Given the description of an element on the screen output the (x, y) to click on. 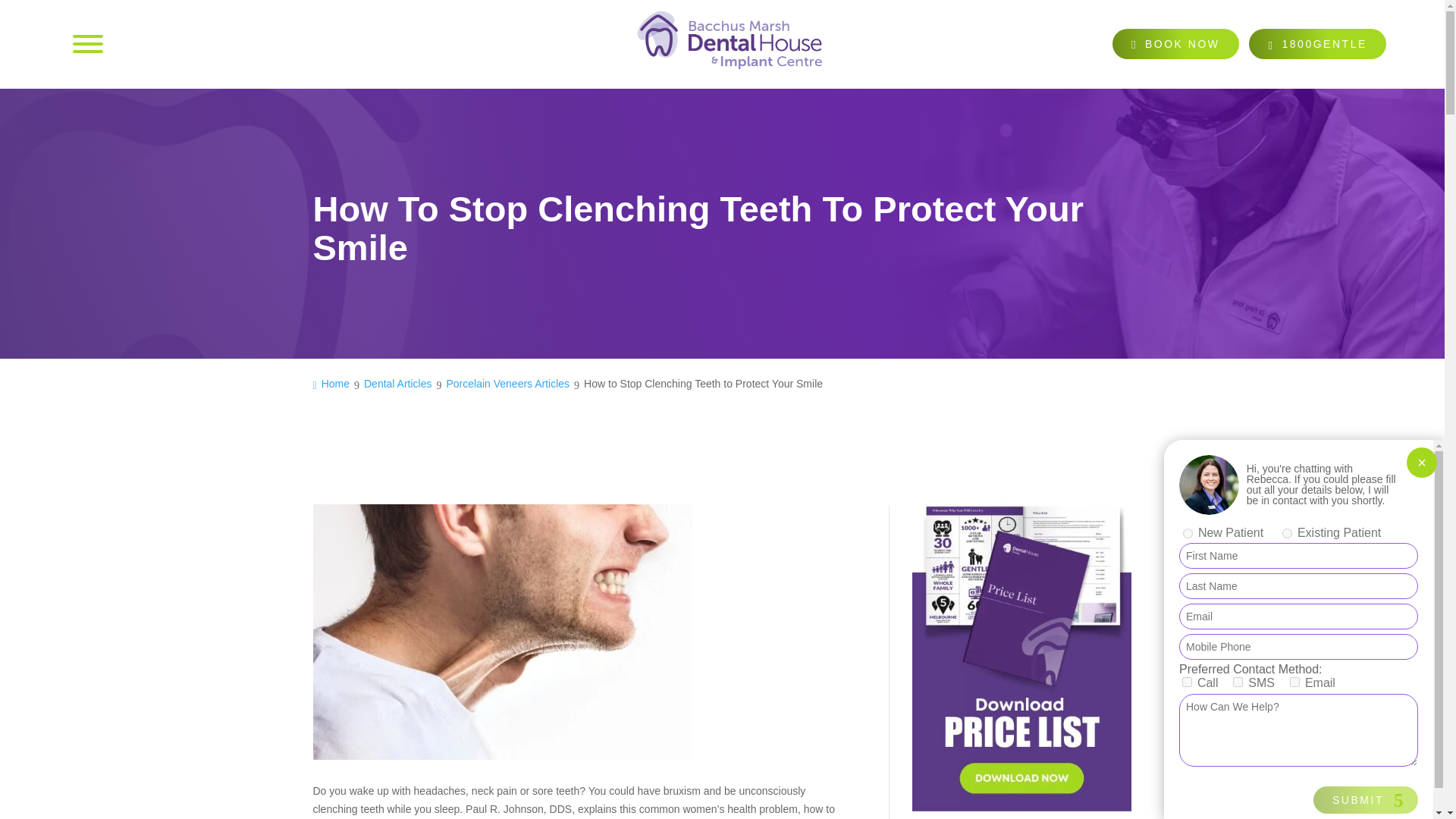
How To Stop Clenching Teeth To Protect Your Smile (1358, 775)
BOOK NOW (1175, 43)
1800GENTLE (1317, 43)
Bacchus Marsh Dental House And Implant Centre (729, 44)
